Given the description of an element on the screen output the (x, y) to click on. 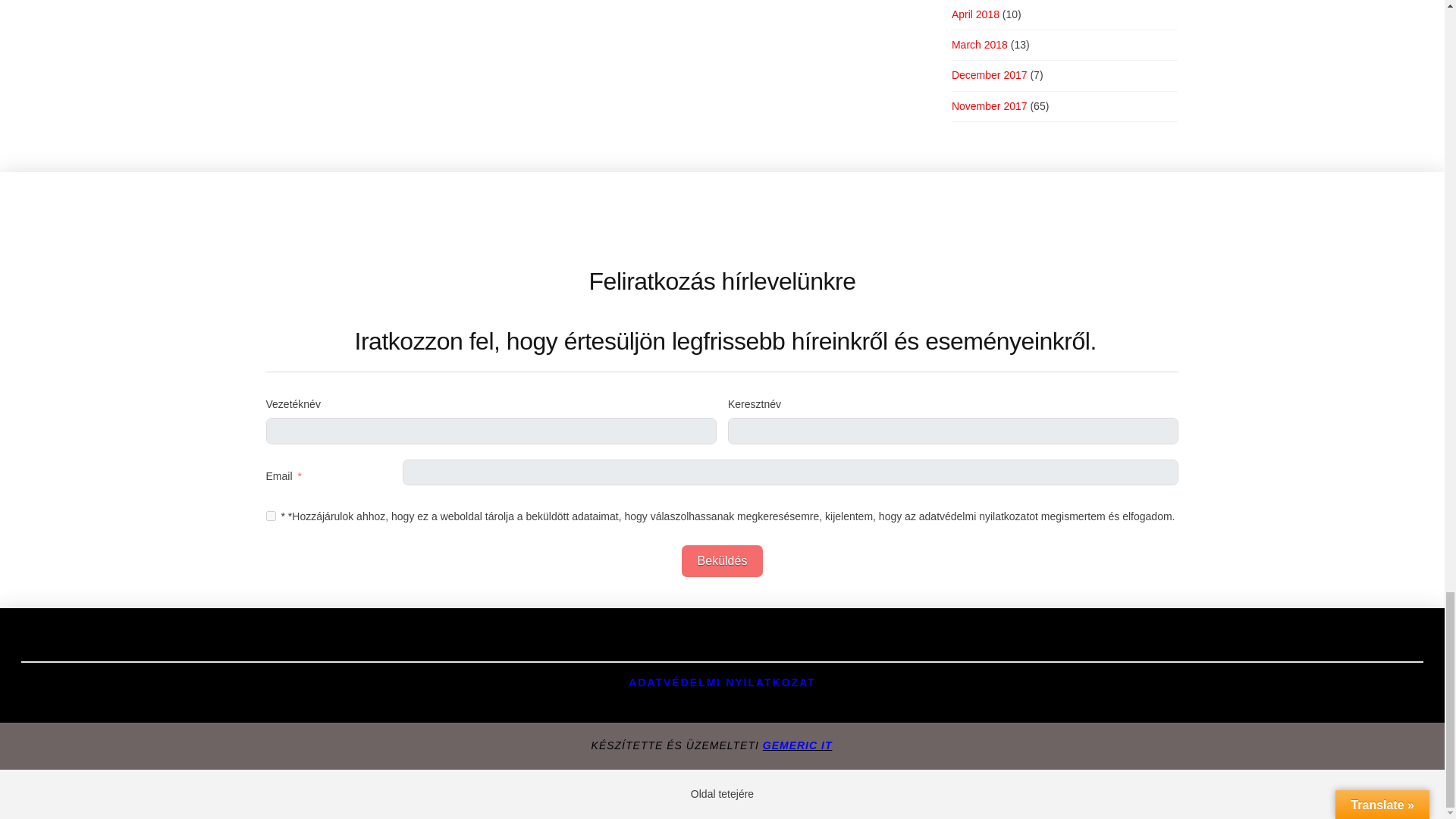
on (271, 515)
